Given the description of an element on the screen output the (x, y) to click on. 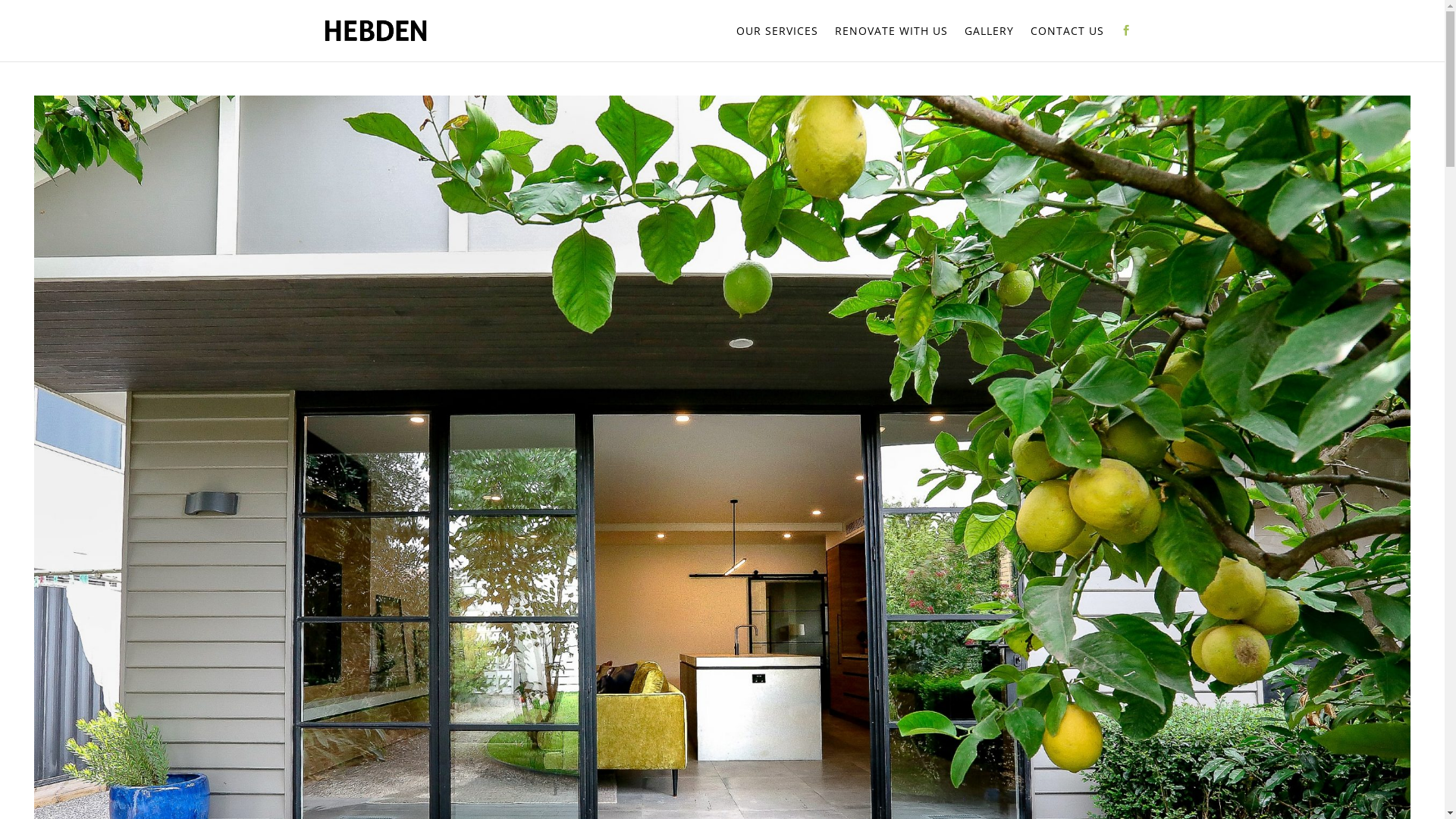
CONTACT US Element type: text (1066, 43)
OUR SERVICES Element type: text (776, 43)
RENOVATE WITH US Element type: text (890, 43)
GALLERY Element type: text (988, 43)
